Given the description of an element on the screen output the (x, y) to click on. 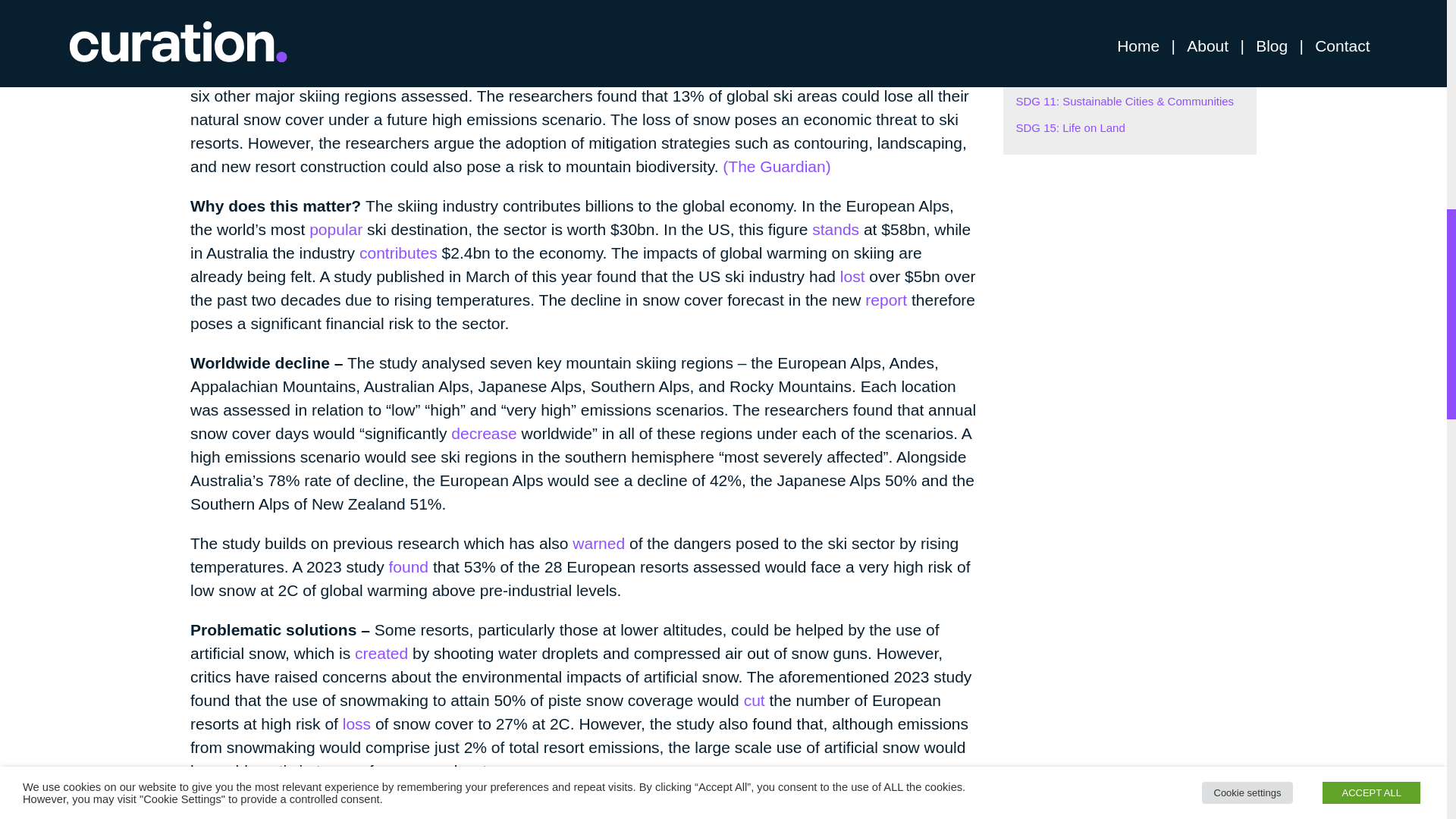
decrease (483, 433)
loss (356, 723)
stands (835, 229)
SDG 15: Life on Land (1070, 127)
report (885, 299)
cut (754, 700)
popular (335, 229)
contributes (398, 252)
warned (598, 543)
created (381, 652)
